Given the description of an element on the screen output the (x, y) to click on. 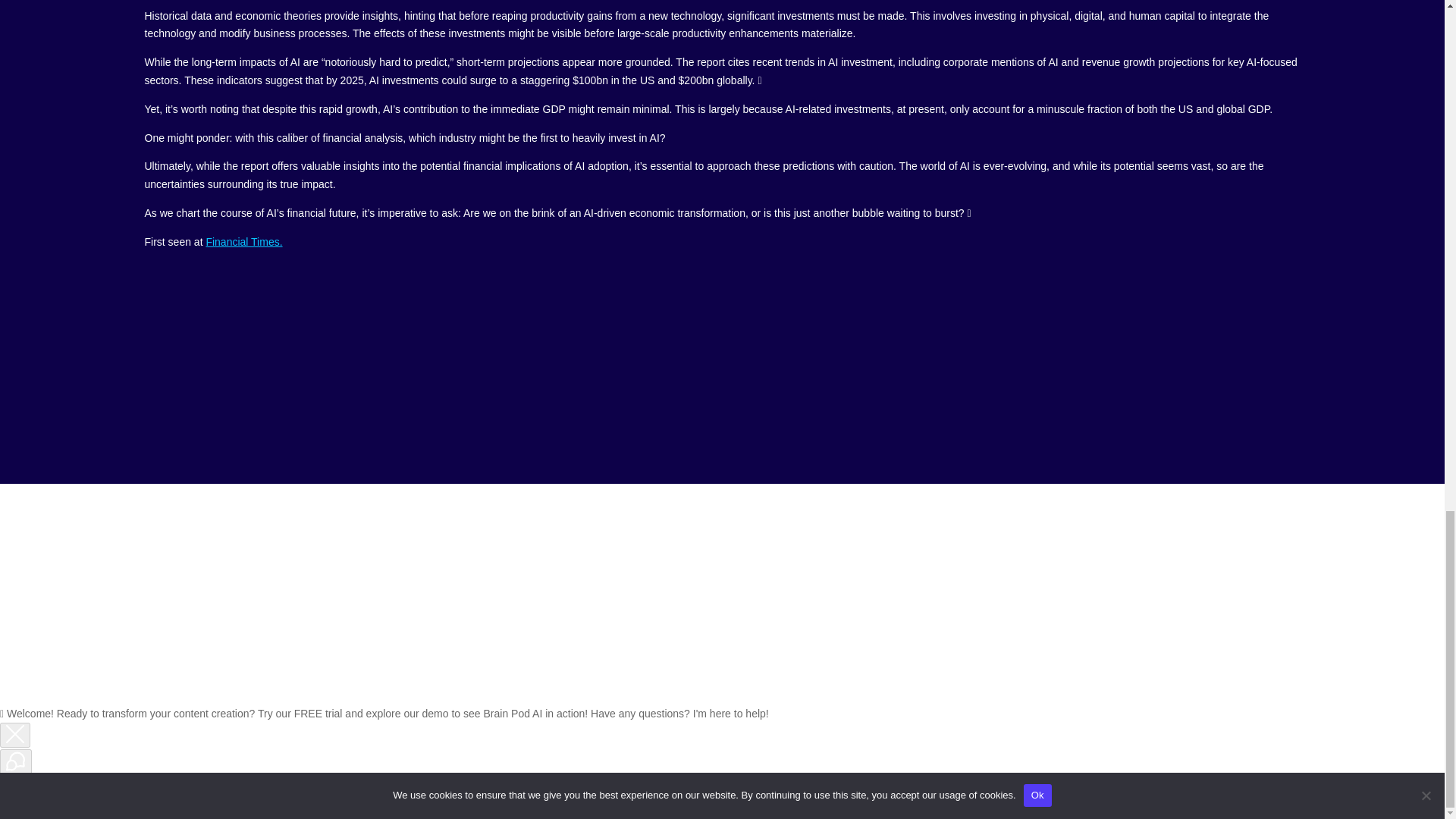
Blog (1149, 616)
Terms of Service (698, 638)
Brain-Pod-AI-FaviconLogo (721, 534)
Whitelabel Generative AI (503, 616)
Acceptable Use Policy (493, 638)
Documentation (1083, 616)
Whitelabel Platform Agreement (835, 638)
Privacy Policy (603, 638)
BrainPodAI-160 Personality-Claim  (722, 340)
Home (296, 616)
AI Services Pricing (909, 616)
Affiliate Program (1037, 638)
Brain Pod AI Demo (376, 616)
Contact Us (392, 638)
Financial Times. (243, 241)
